Given the description of an element on the screen output the (x, y) to click on. 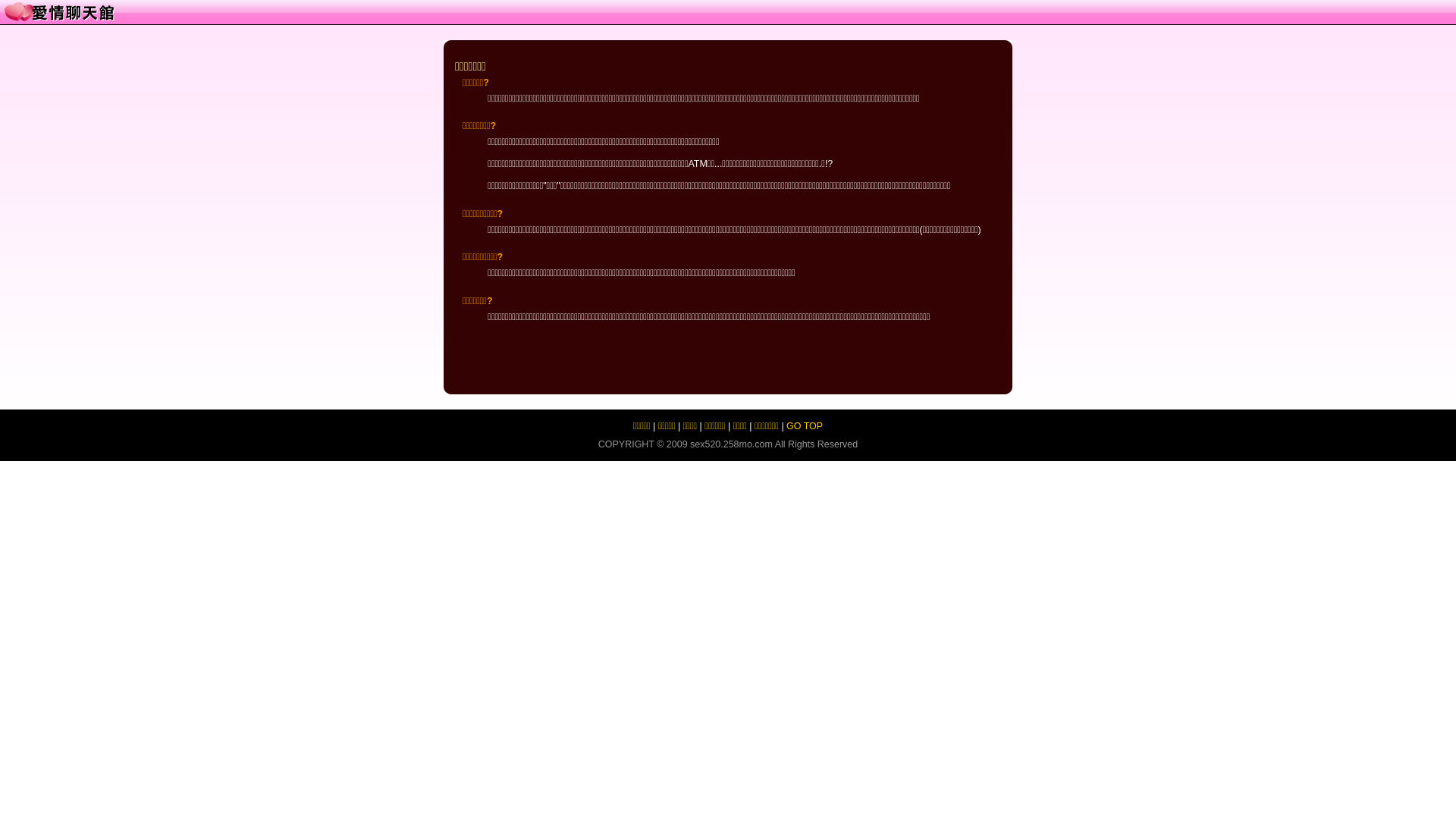
GO TOP Element type: text (804, 425)
sex520.258mo.com Element type: text (731, 444)
